Given the description of an element on the screen output the (x, y) to click on. 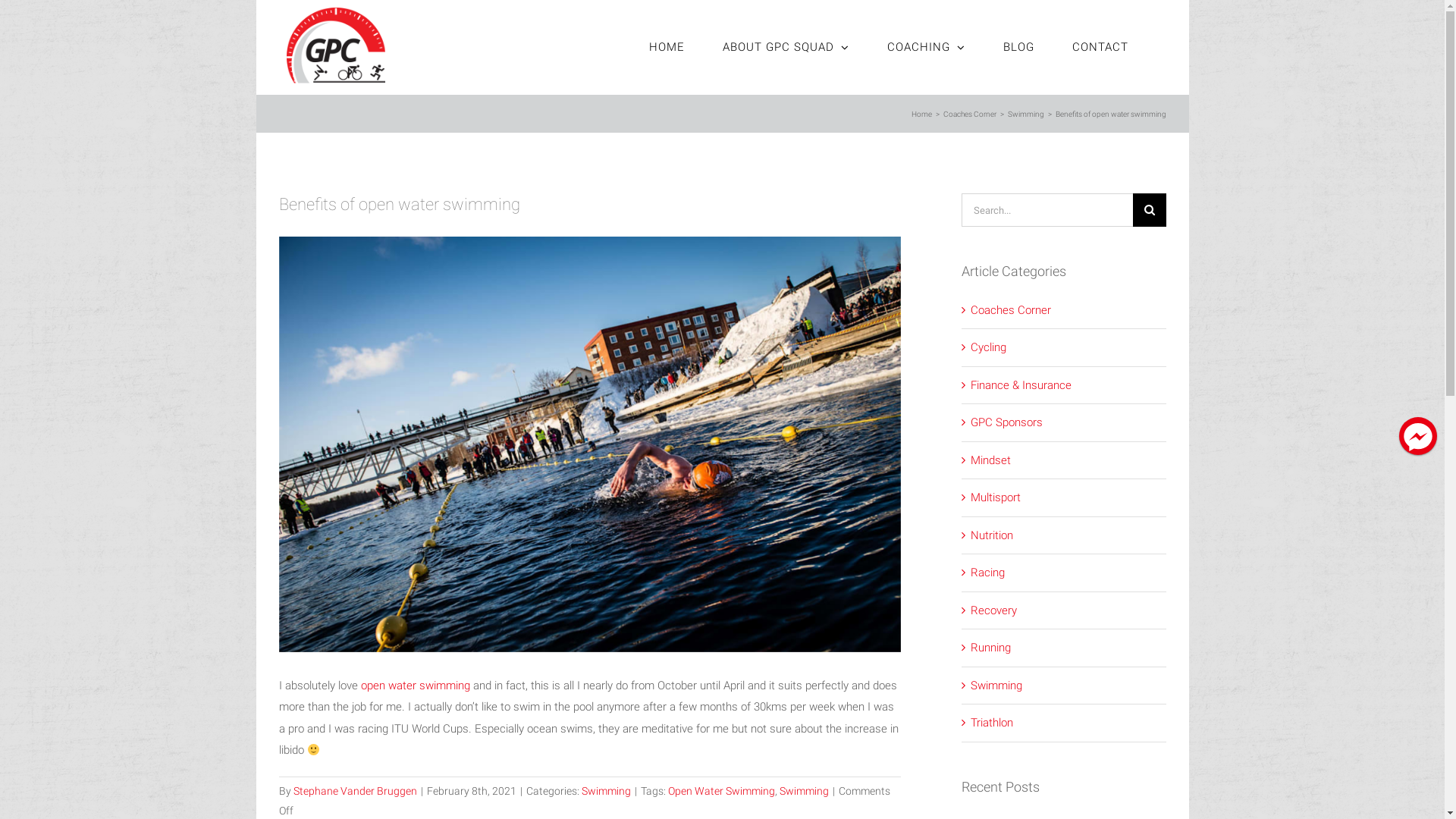
Open Water Swimming Element type: text (720, 790)
Coaches Corner Element type: text (969, 113)
Recovery Element type: text (1063, 610)
GPC Sponsors Element type: text (1063, 422)
CONTACT Element type: text (1100, 47)
Multisport Element type: text (1063, 497)
Mindset Element type: text (1063, 460)
Racing Element type: text (1063, 572)
Swimming Element type: text (803, 790)
Cycling Element type: text (1063, 347)
BLOG Element type: text (1017, 47)
Stephane Vander Bruggen Element type: text (354, 790)
Swimming Element type: text (605, 790)
open water swimming Element type: text (415, 685)
Coaches Corner Element type: text (1063, 310)
View Larger Image Element type: text (590, 444)
Home Element type: text (921, 113)
HOME Element type: text (666, 47)
Triathlon Element type: text (1063, 723)
Swimming Element type: text (1025, 113)
Running Element type: text (1063, 647)
Swimming Element type: text (1063, 685)
Nutrition Element type: text (1063, 535)
COACHING Element type: text (926, 47)
ABOUT GPC SQUAD Element type: text (784, 47)
Finance & Insurance Element type: text (1063, 385)
